Given the description of an element on the screen output the (x, y) to click on. 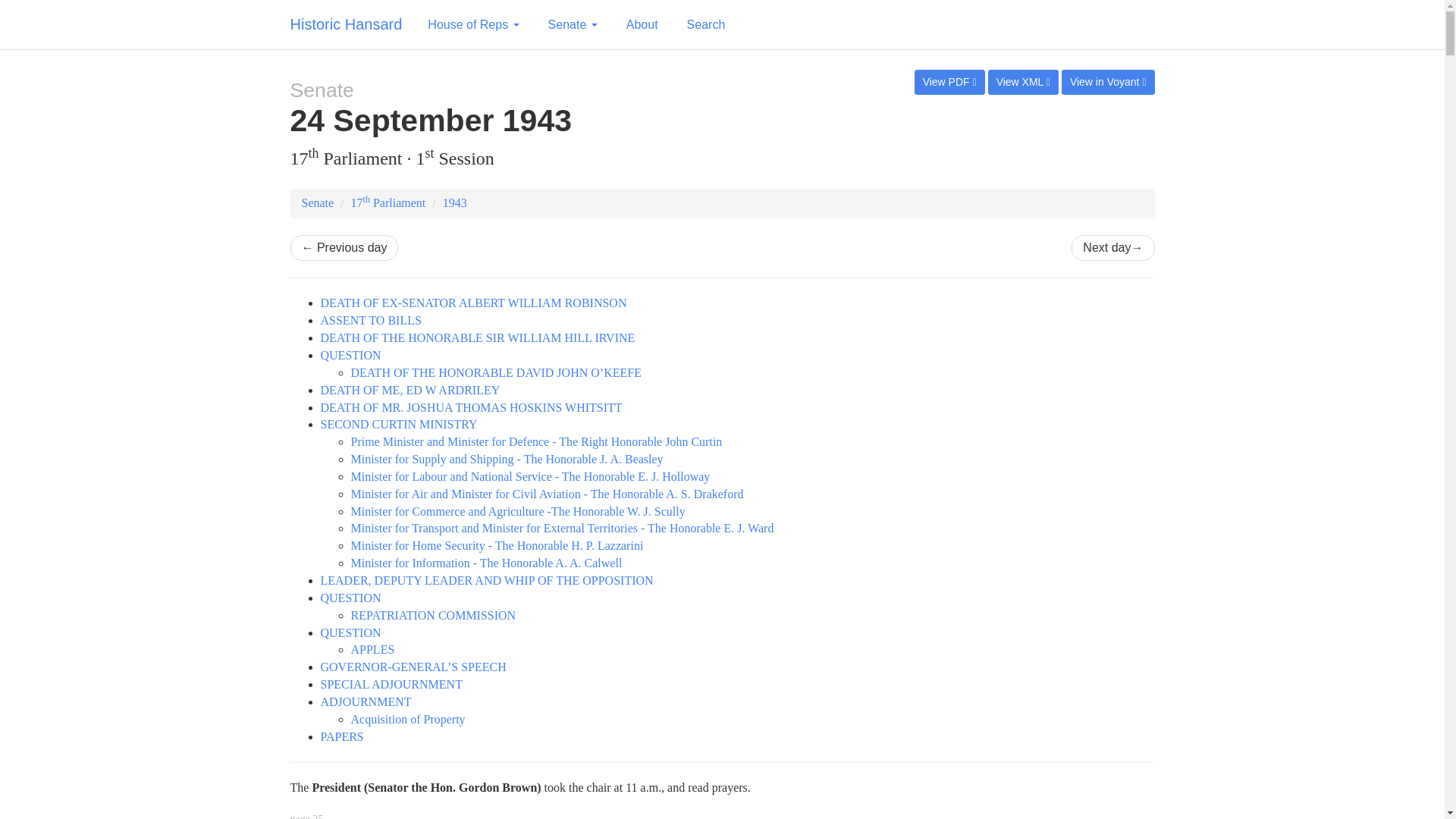
Historic Hansard (346, 24)
DEATH OF ME, ED W ARDRILEY (409, 390)
QUESTION (350, 354)
House of Reps (472, 24)
SECOND CURTIN MINISTRY (398, 423)
17th Parliament (388, 202)
Search (706, 24)
LEADER, DEPUTY LEADER AND WHIP OF THE OPPOSITION (486, 580)
Senate (317, 202)
ASSENT TO BILLS (370, 319)
Senate (572, 24)
